Given the description of an element on the screen output the (x, y) to click on. 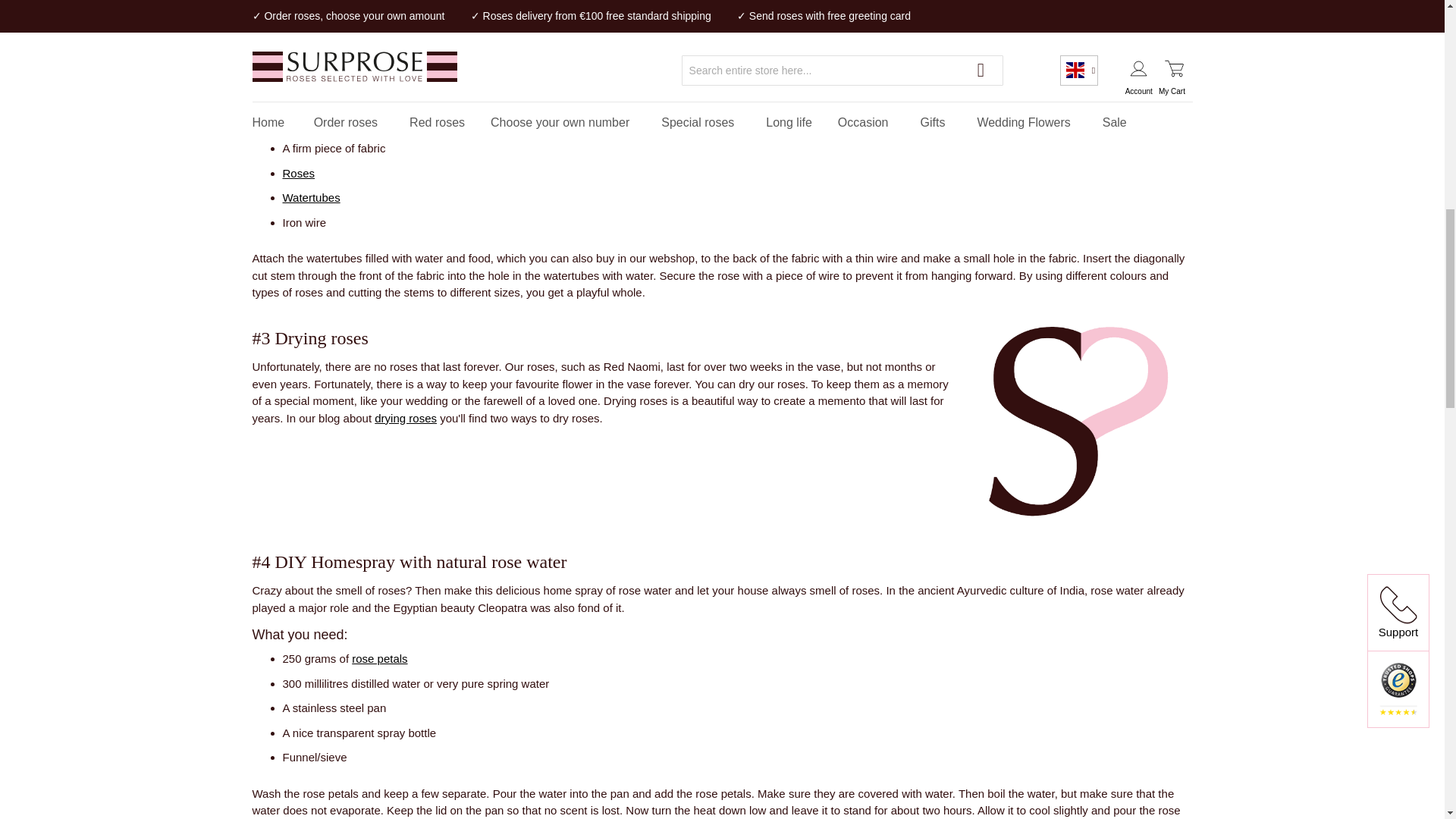
Blog: Rose care (1143, 6)
Watertubes (310, 196)
Order roses (298, 173)
